Given the description of an element on the screen output the (x, y) to click on. 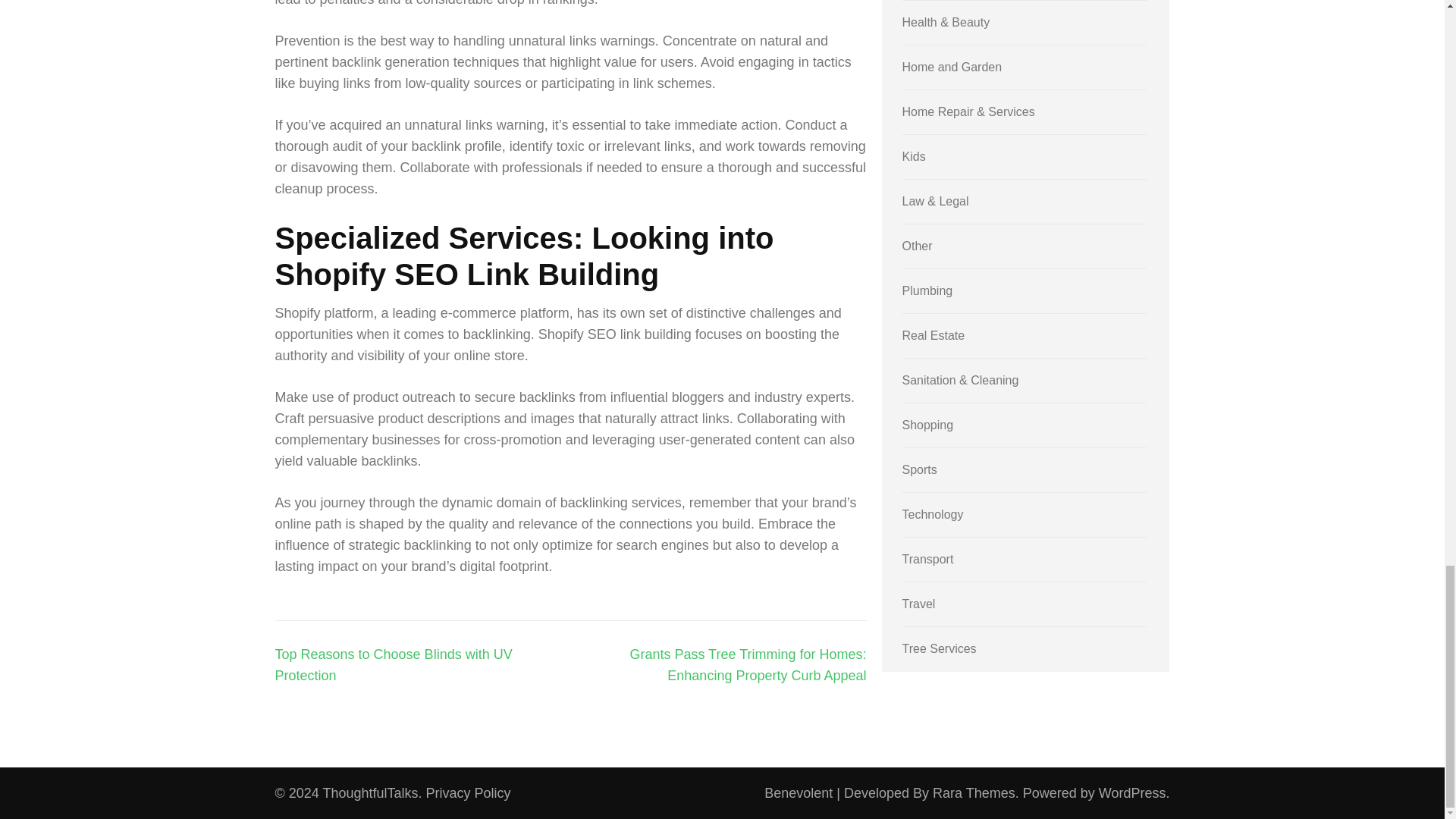
Top Reasons to Choose Blinds with UV Protection (393, 665)
